Given the description of an element on the screen output the (x, y) to click on. 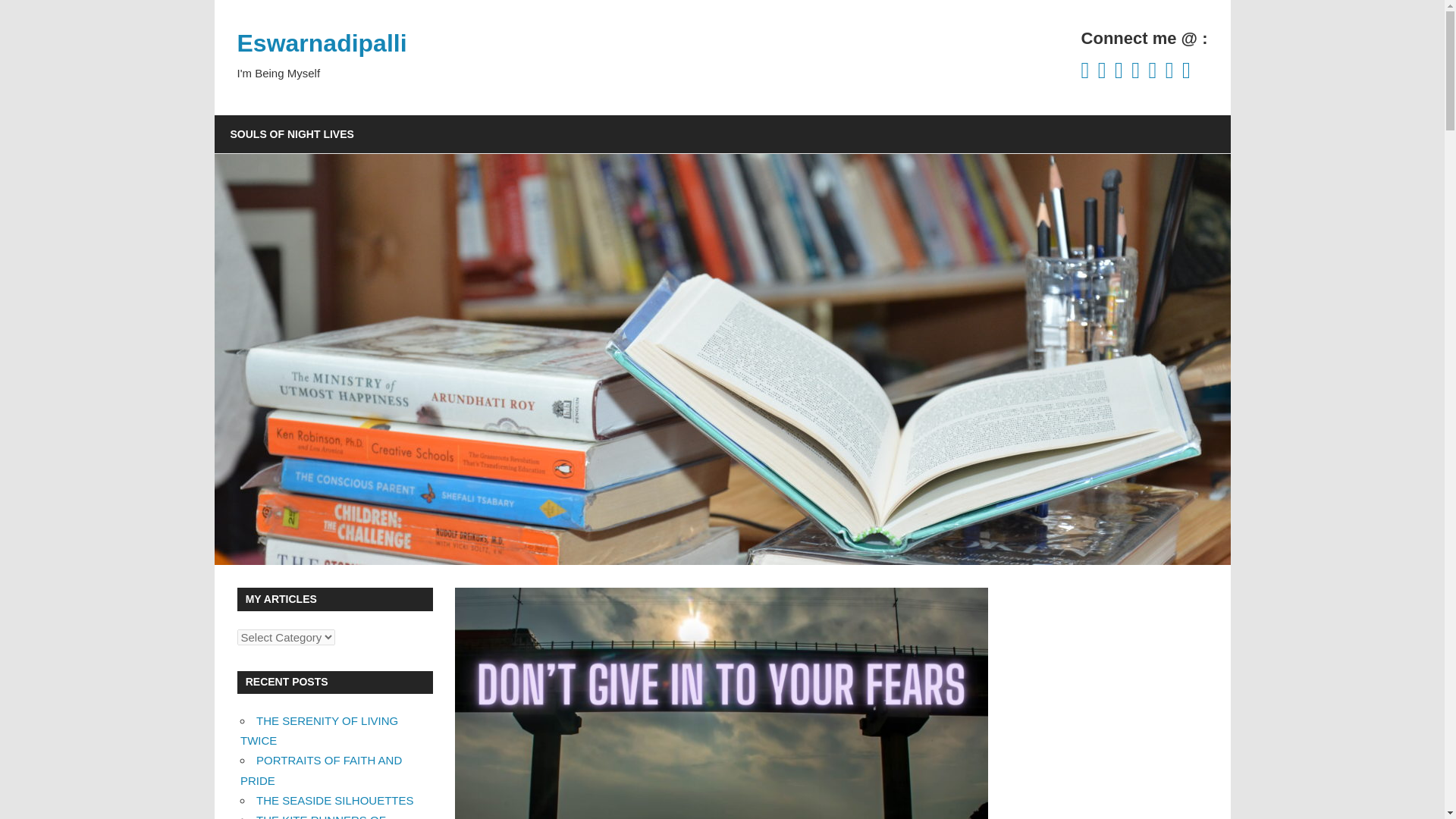
Eswarnadipalli (320, 42)
THE SERENITY OF LIVING TWICE (318, 730)
SOULS OF NIGHT LIVES (291, 134)
THE KITE RUNNERS OF HYDERABAD (312, 816)
PORTRAITS OF FAITH AND PRIDE (320, 769)
THE SEASIDE SILHOUETTES (334, 799)
